Given the description of an element on the screen output the (x, y) to click on. 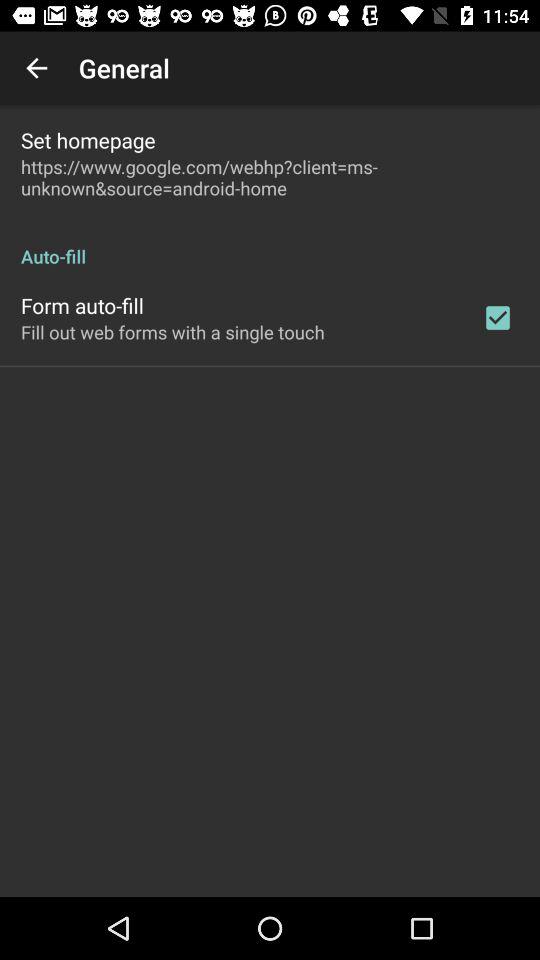
click the item on the left (172, 331)
